Given the description of an element on the screen output the (x, y) to click on. 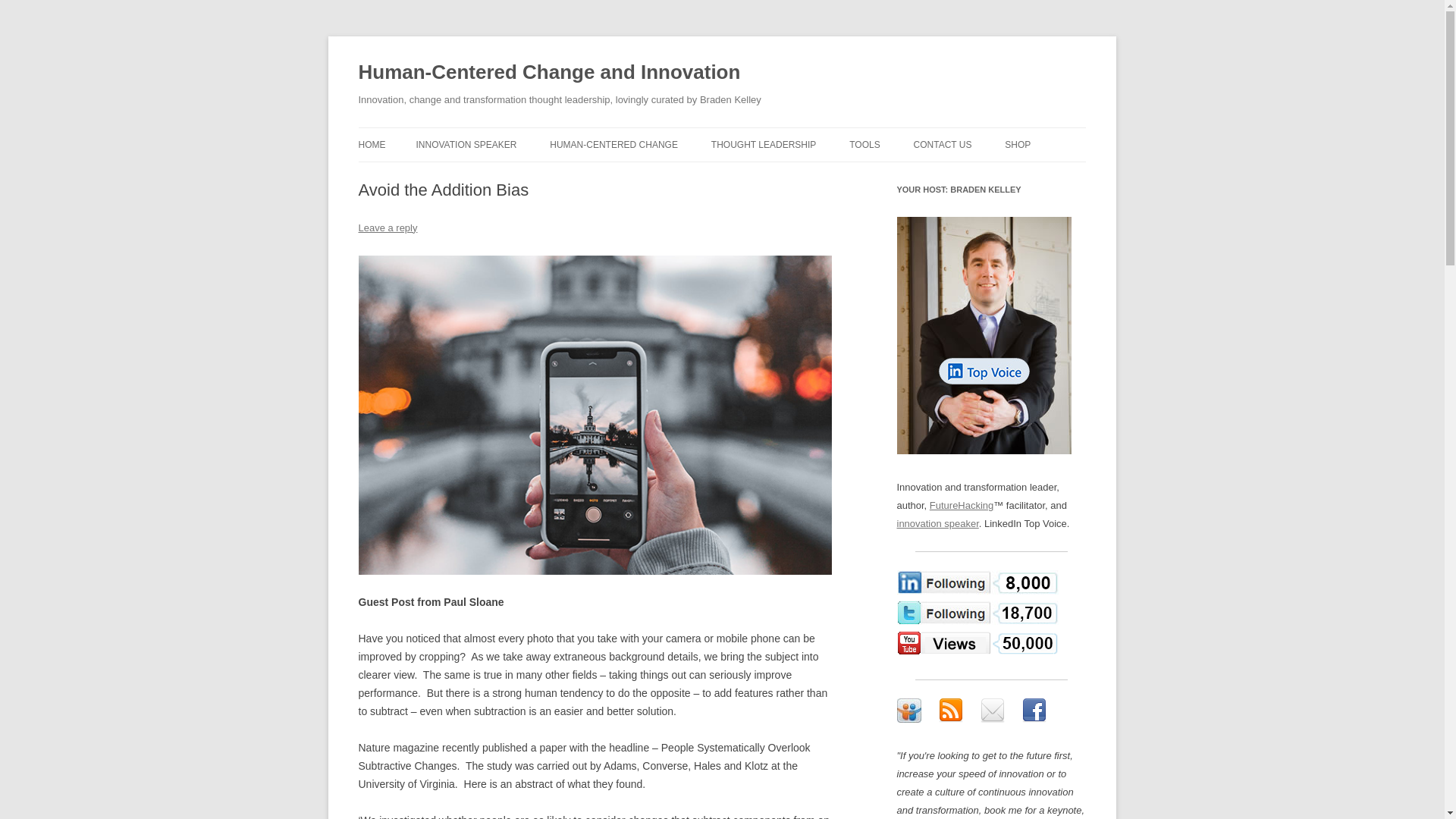
THOUGHT LEADERSHIP (763, 144)
NEWSLETTER SIGNUP (989, 176)
INNOVATION SPEAKER (465, 144)
HUMAN-CENTERED CHANGE (614, 144)
CART (1080, 176)
Human-Centered Change and Innovation (548, 72)
Braden Kelley on Slideshare (908, 710)
Subscribe to Braden Kelley's RSS feed (950, 710)
FREE INNOVATION MATURITY ASSESSMENT (924, 185)
BLOG (787, 176)
TOOLS (863, 144)
Leave a reply (387, 227)
Subscribe to the Braden Kelley Monthly update (991, 710)
THE BOOK (625, 176)
